Given the description of an element on the screen output the (x, y) to click on. 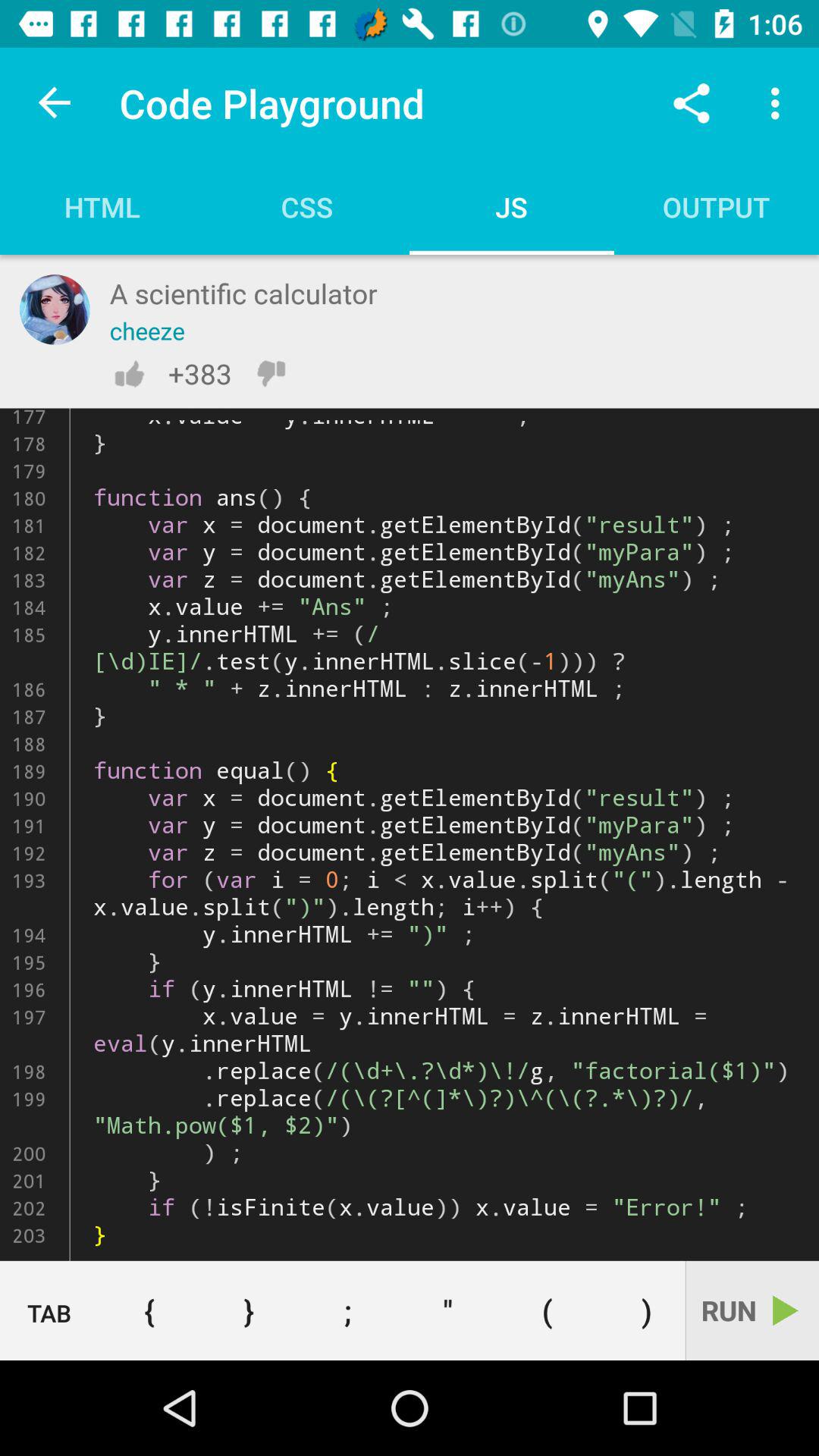
launch the item next to tab item (149, 1310)
